Given the description of an element on the screen output the (x, y) to click on. 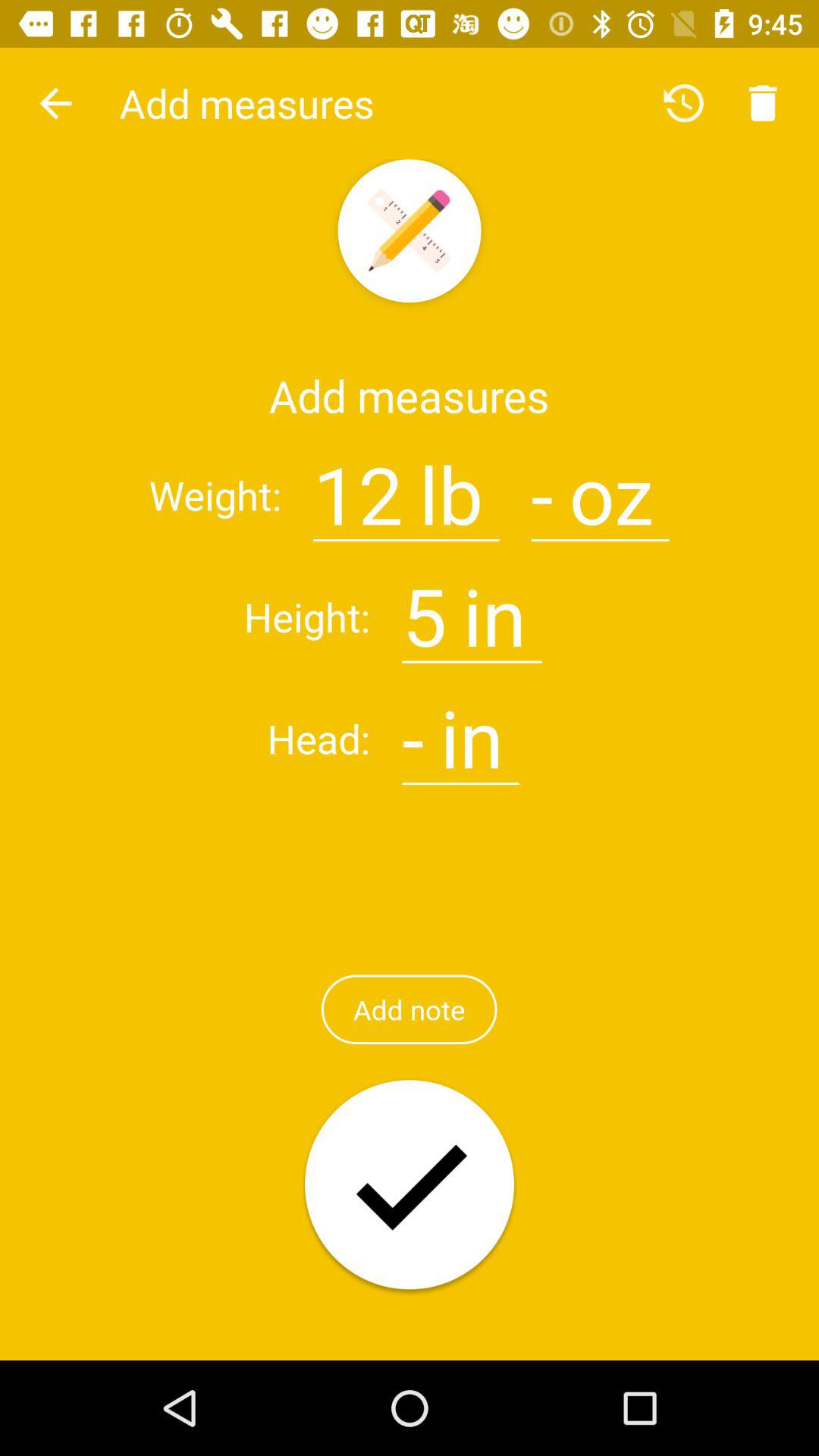
open icon to the left of the in (424, 607)
